Given the description of an element on the screen output the (x, y) to click on. 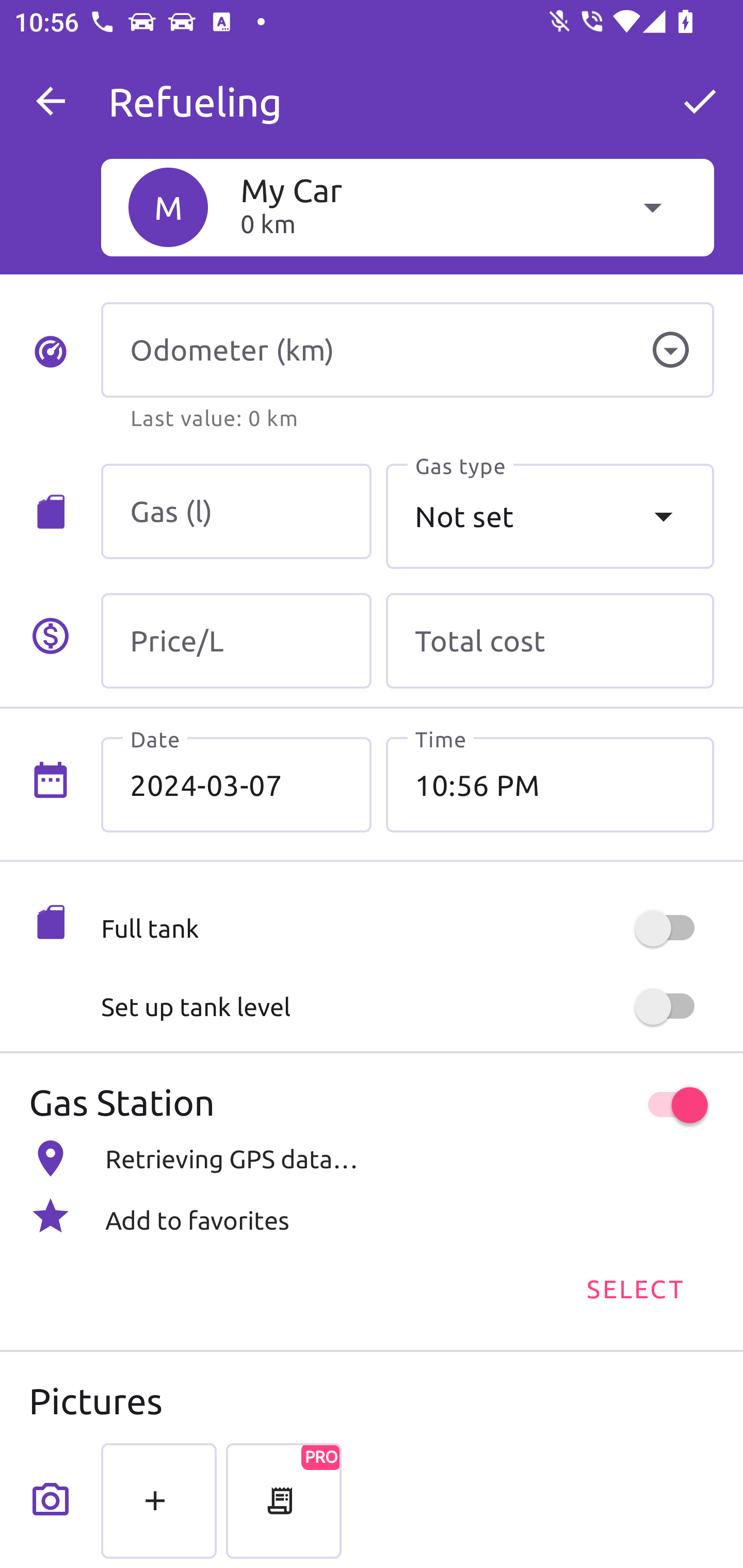
Navigate up (50, 101)
OK (699, 101)
M My Car 0 km (407, 206)
Odometer (km) (407, 350)
Odometer (670, 349)
Gas (l) (236, 511)
Not set (549, 516)
Price/L (236, 640)
Total cost  (549, 640)
2024-03-07 (236, 784)
10:56 PM (549, 784)
Full tank (407, 928)
Set up tank level (407, 1006)
Add to favorites (371, 1215)
SELECT (634, 1287)
